Given the description of an element on the screen output the (x, y) to click on. 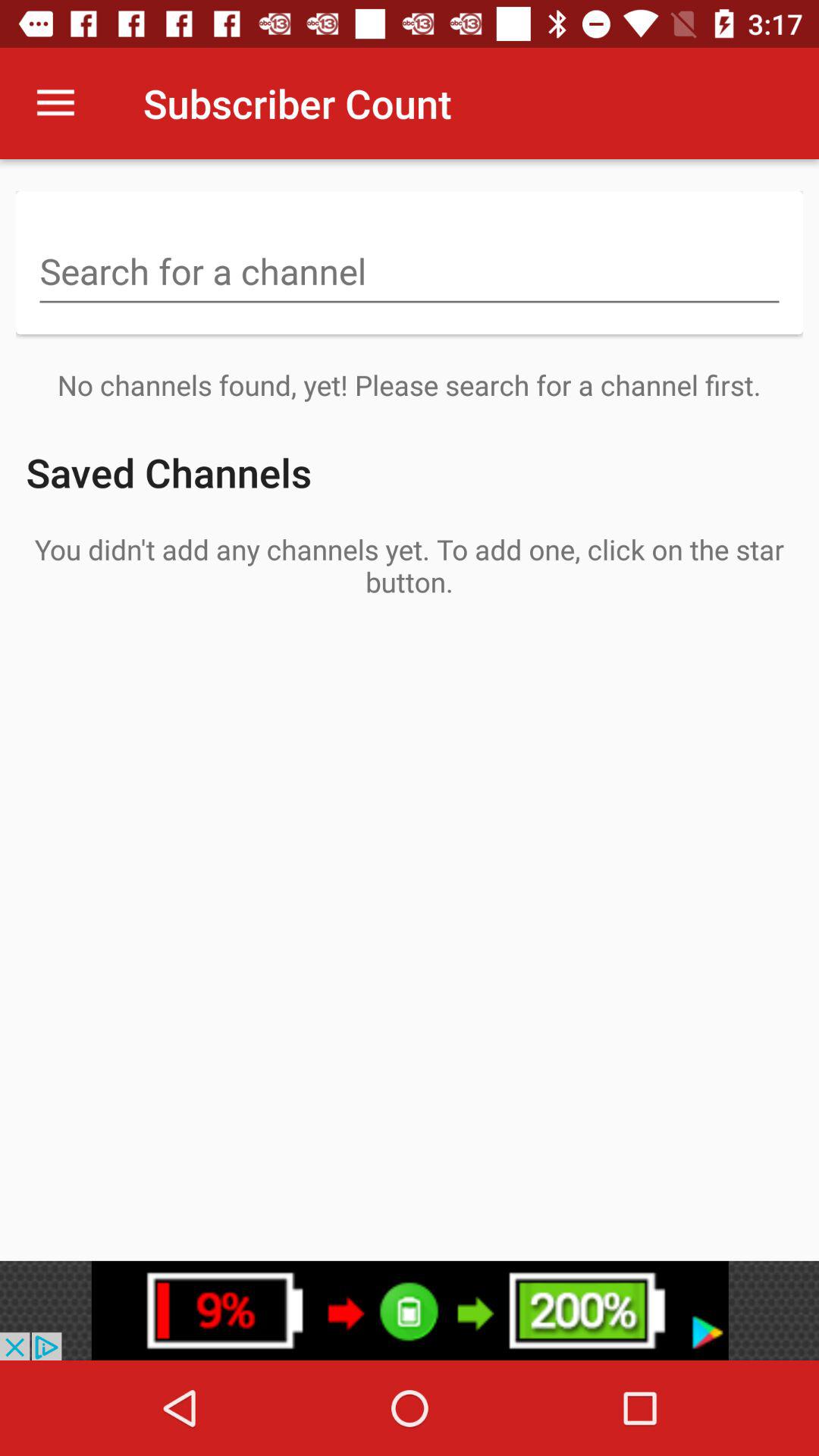
go to search (409, 273)
